Given the description of an element on the screen output the (x, y) to click on. 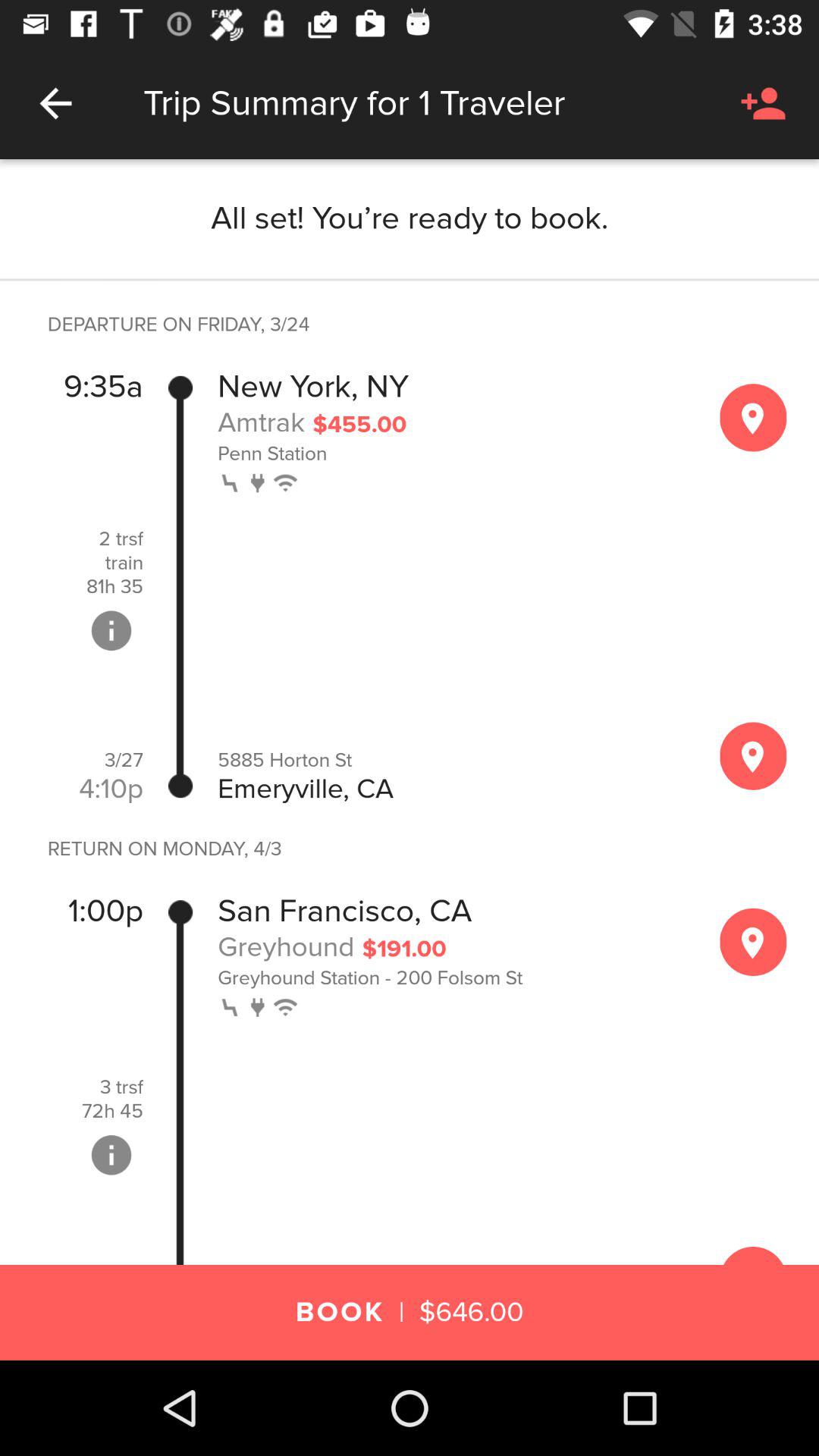
mark place on map (753, 941)
